Given the description of an element on the screen output the (x, y) to click on. 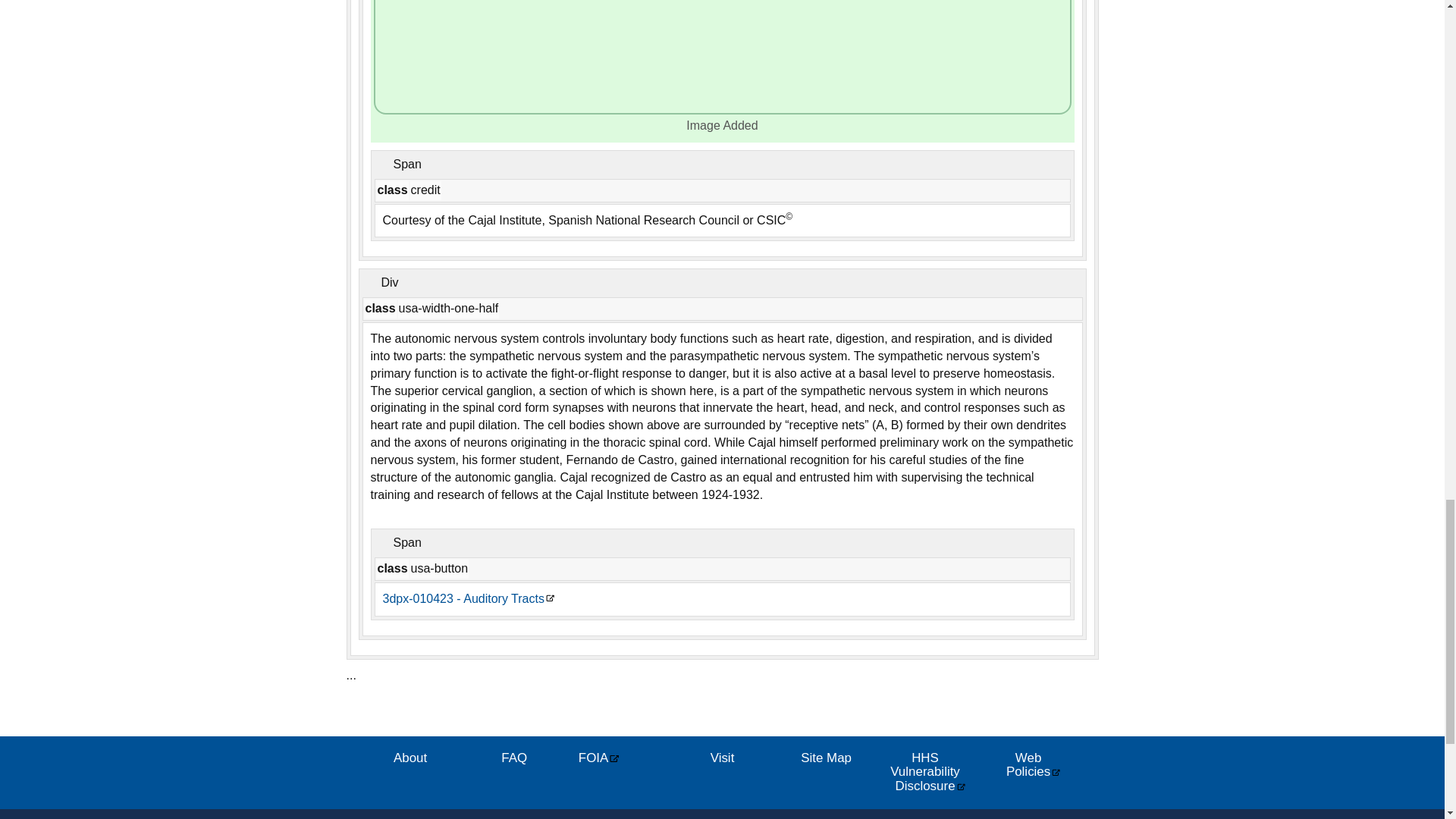
Return to top (360, 715)
About (409, 758)
3dpx-010423 - Auditory Tracts (467, 599)
